Given the description of an element on the screen output the (x, y) to click on. 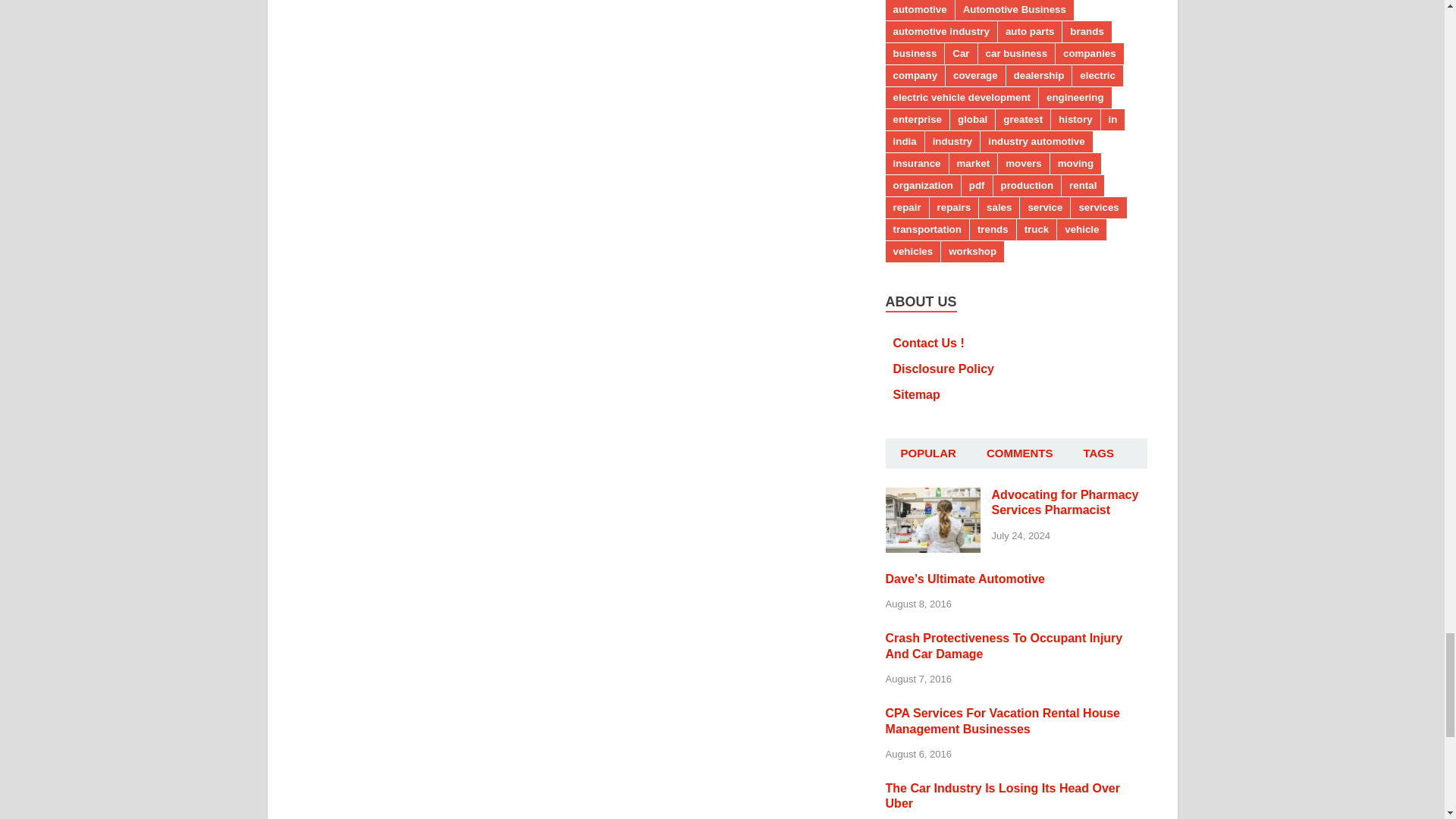
Advocating for Pharmacy Services Pharmacist (932, 495)
